Given the description of an element on the screen output the (x, y) to click on. 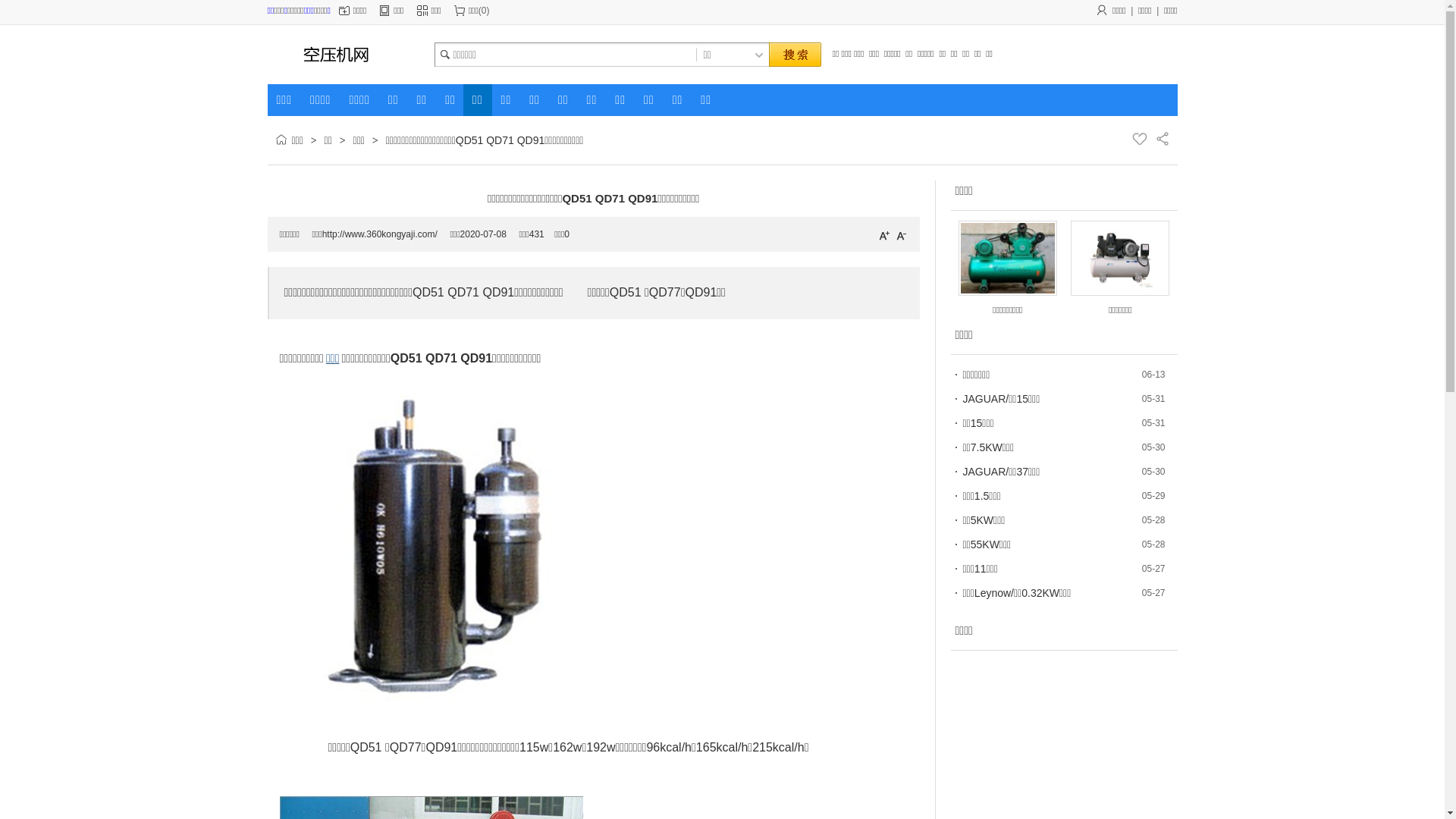
  Element type: text (793, 54)
http://www.360kongyaji.com/ Element type: text (379, 234)
